Given the description of an element on the screen output the (x, y) to click on. 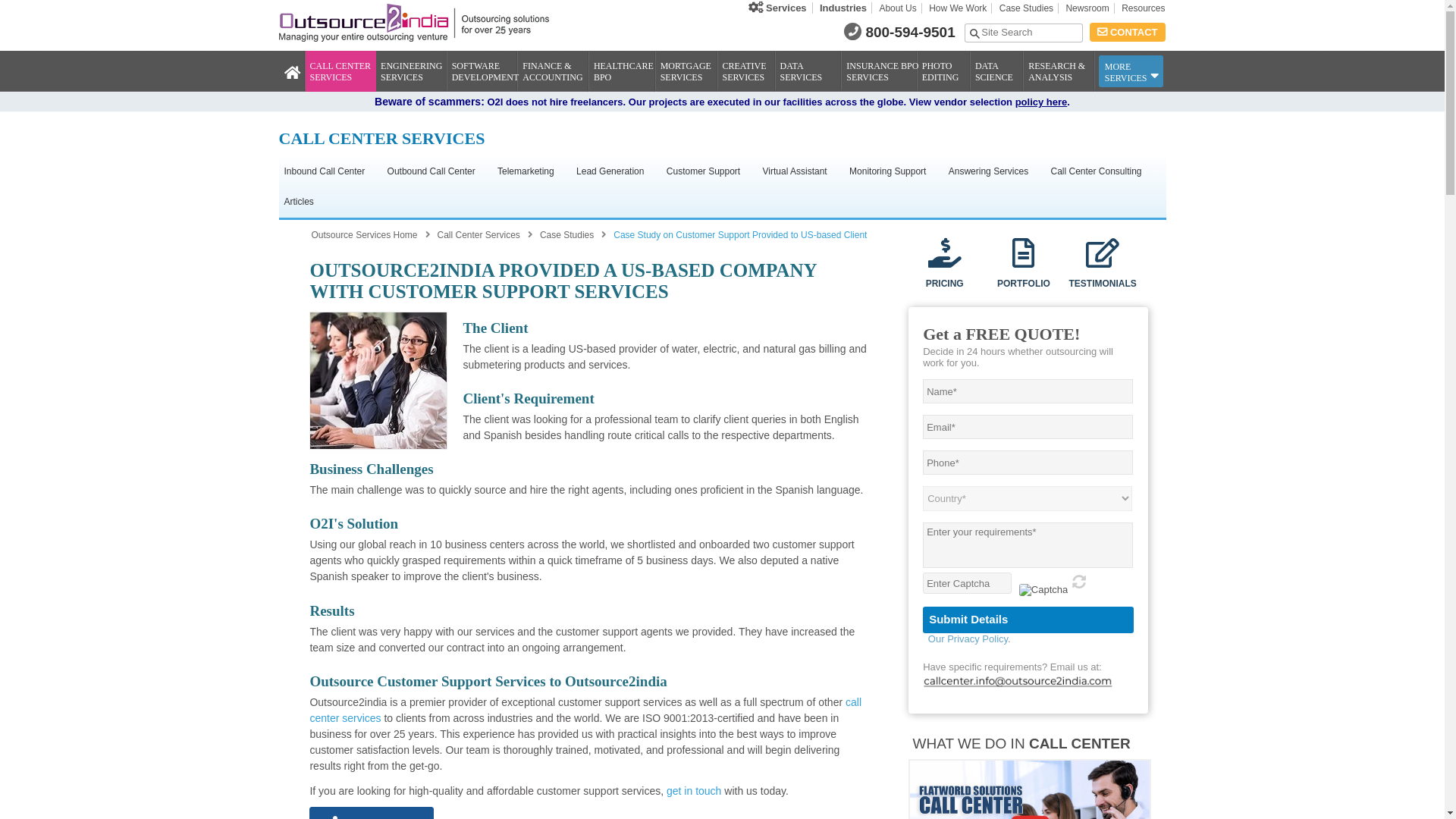
ENGINEERING SERVICES (416, 67)
Submit Details (1028, 619)
About Us (898, 8)
Industries (843, 7)
Case Studies (1026, 8)
How We Work (957, 8)
Resources (1140, 8)
CONTACT (1126, 31)
Services (777, 7)
Case Study on Customer Support Provided to US-based Client (377, 380)
CALL CENTER SERVICES (344, 67)
Newsroom (1087, 8)
800-594-9501 (909, 32)
